Given the description of an element on the screen output the (x, y) to click on. 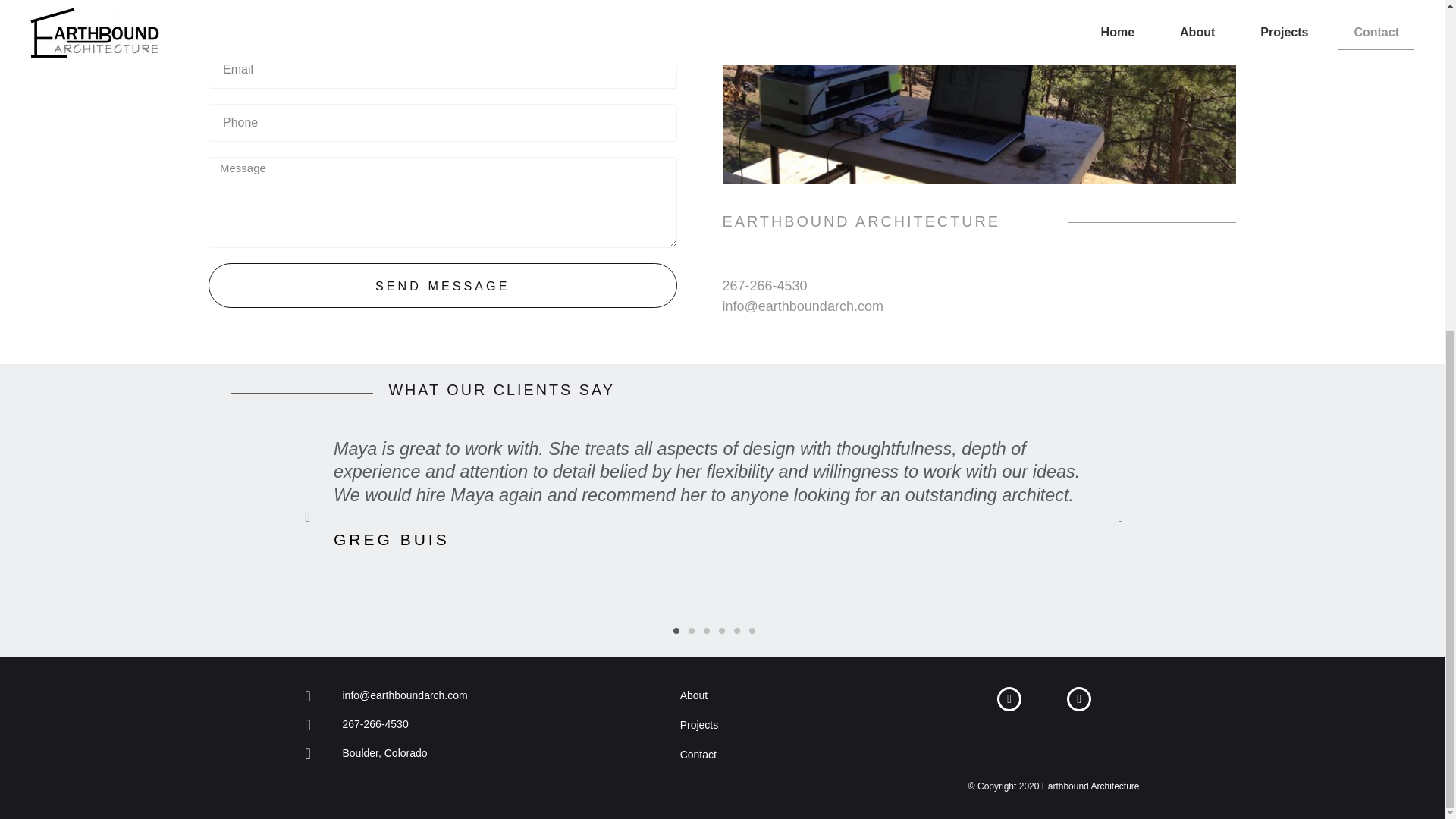
DeskView3 (979, 92)
267-266-4530 (483, 724)
About (808, 696)
SEND MESSAGE (442, 284)
Projects (808, 725)
Contact (808, 755)
